Given the description of an element on the screen output the (x, y) to click on. 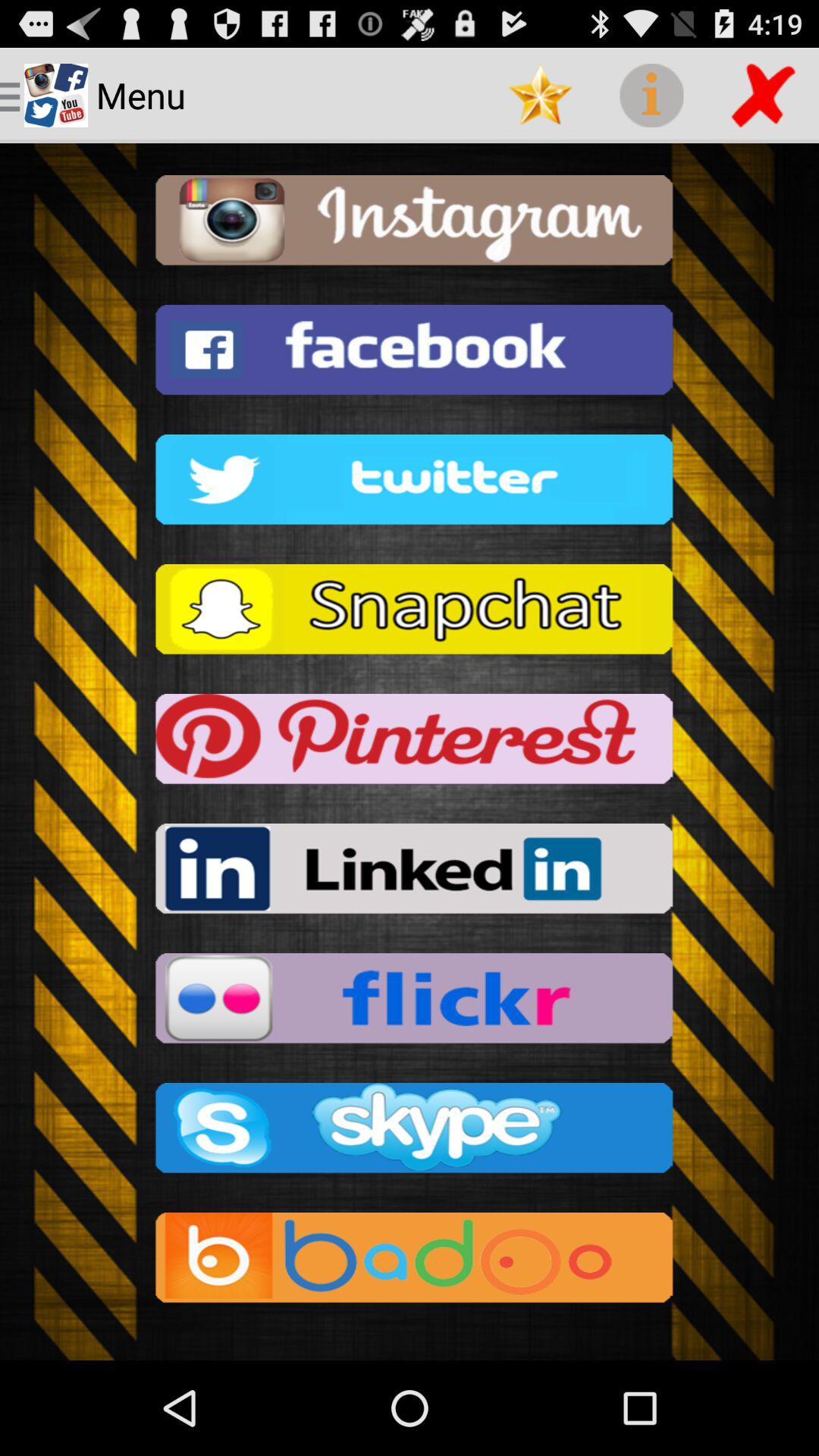
open the item next to menu app (540, 95)
